Given the description of an element on the screen output the (x, y) to click on. 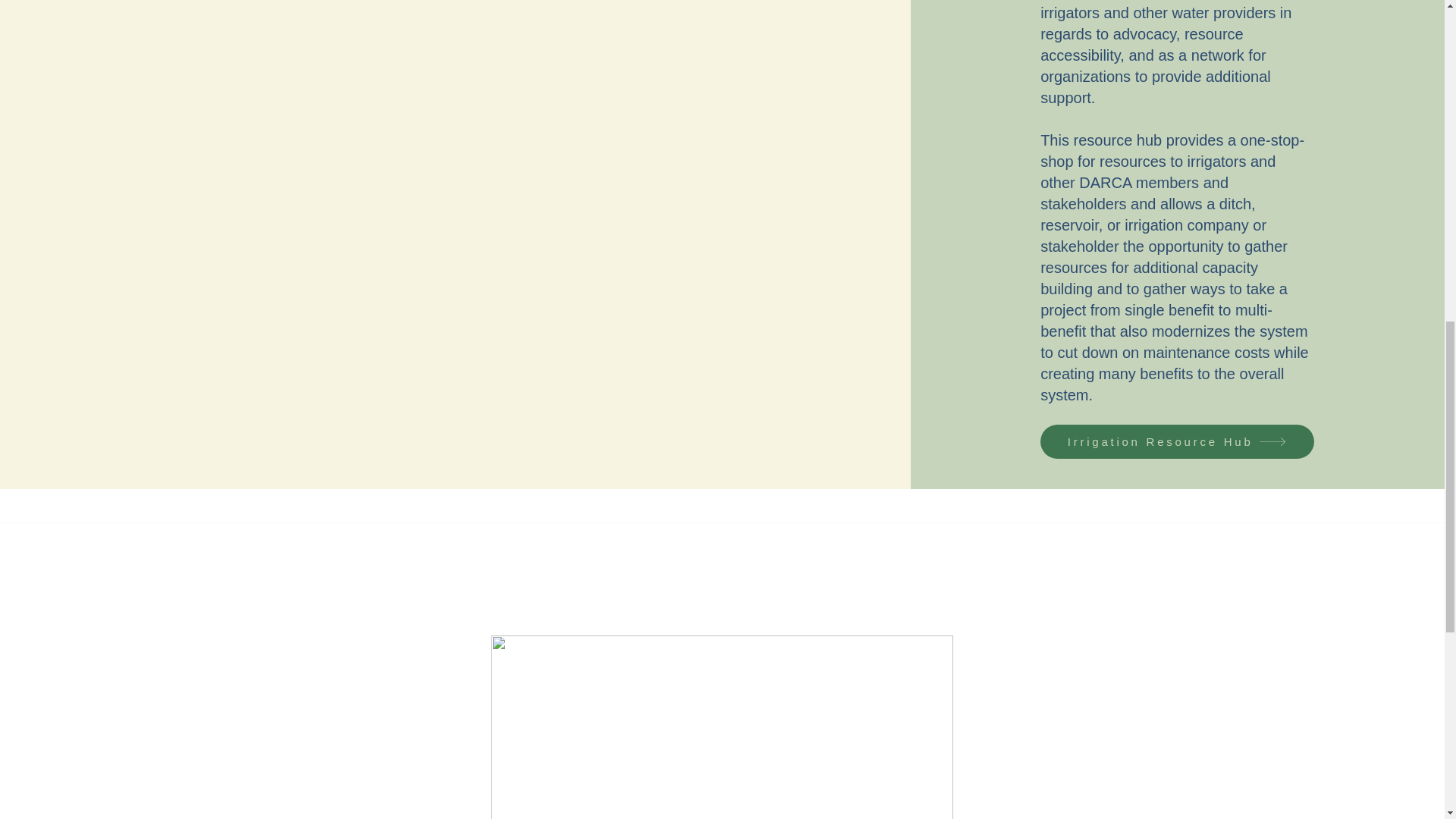
Irrigation Resource Hub (1177, 441)
DARCA Logo- Micaela Fenton.png (722, 727)
